Given the description of an element on the screen output the (x, y) to click on. 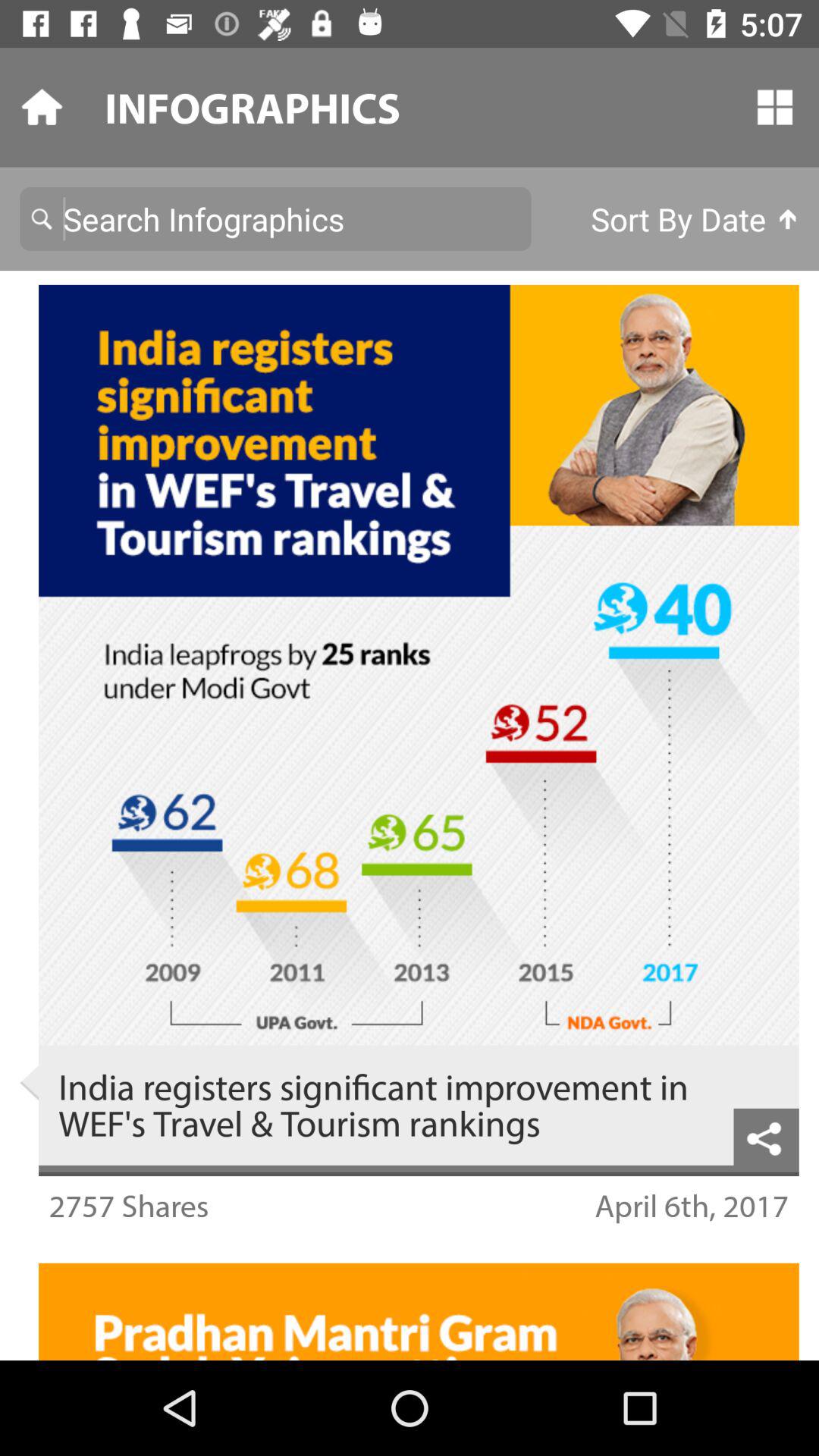
click the icon to the right of the 2757 shares icon (691, 1205)
